Given the description of an element on the screen output the (x, y) to click on. 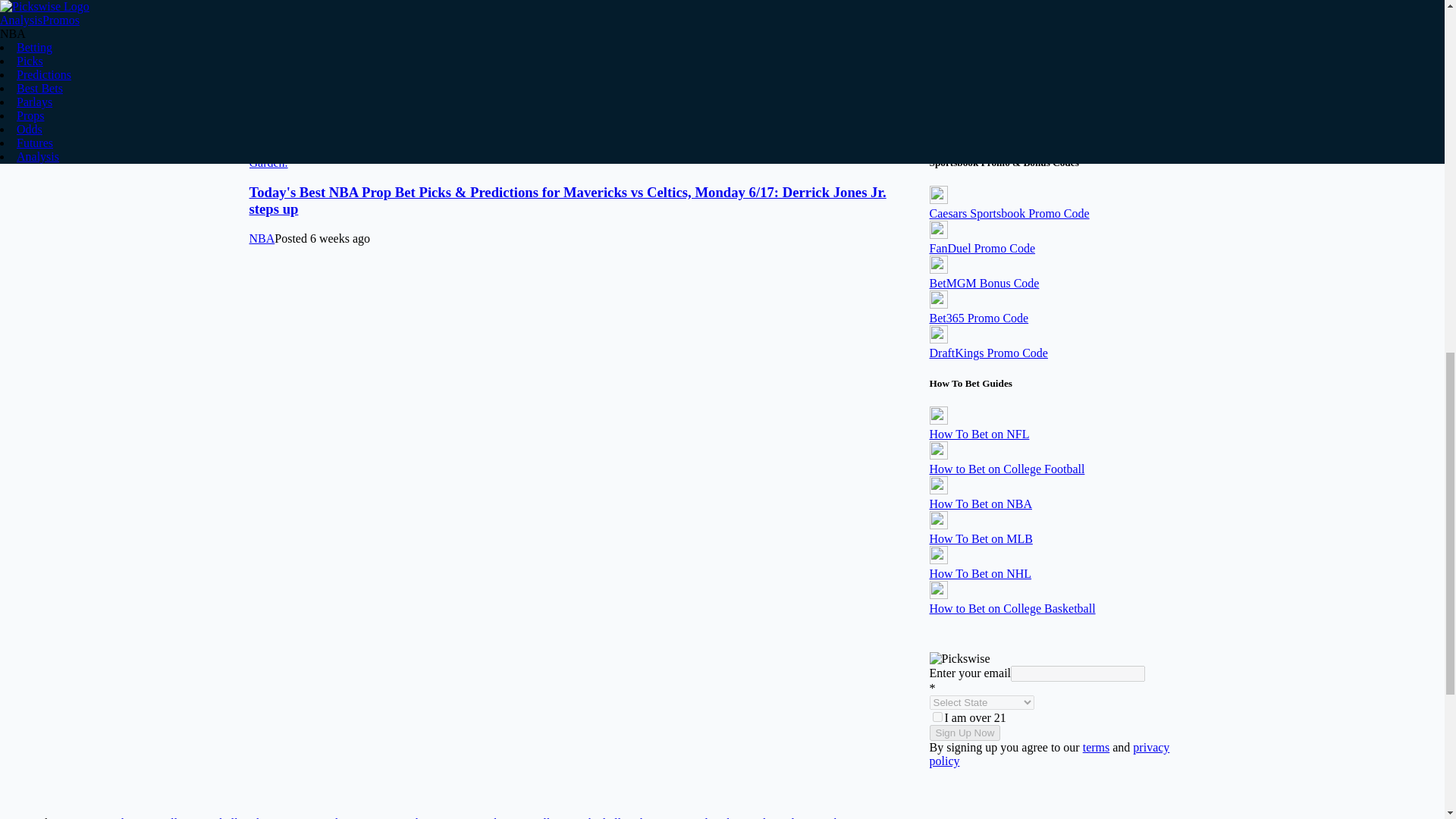
I am over 21 (937, 716)
NBA (261, 134)
NBA (261, 237)
